Given the description of an element on the screen output the (x, y) to click on. 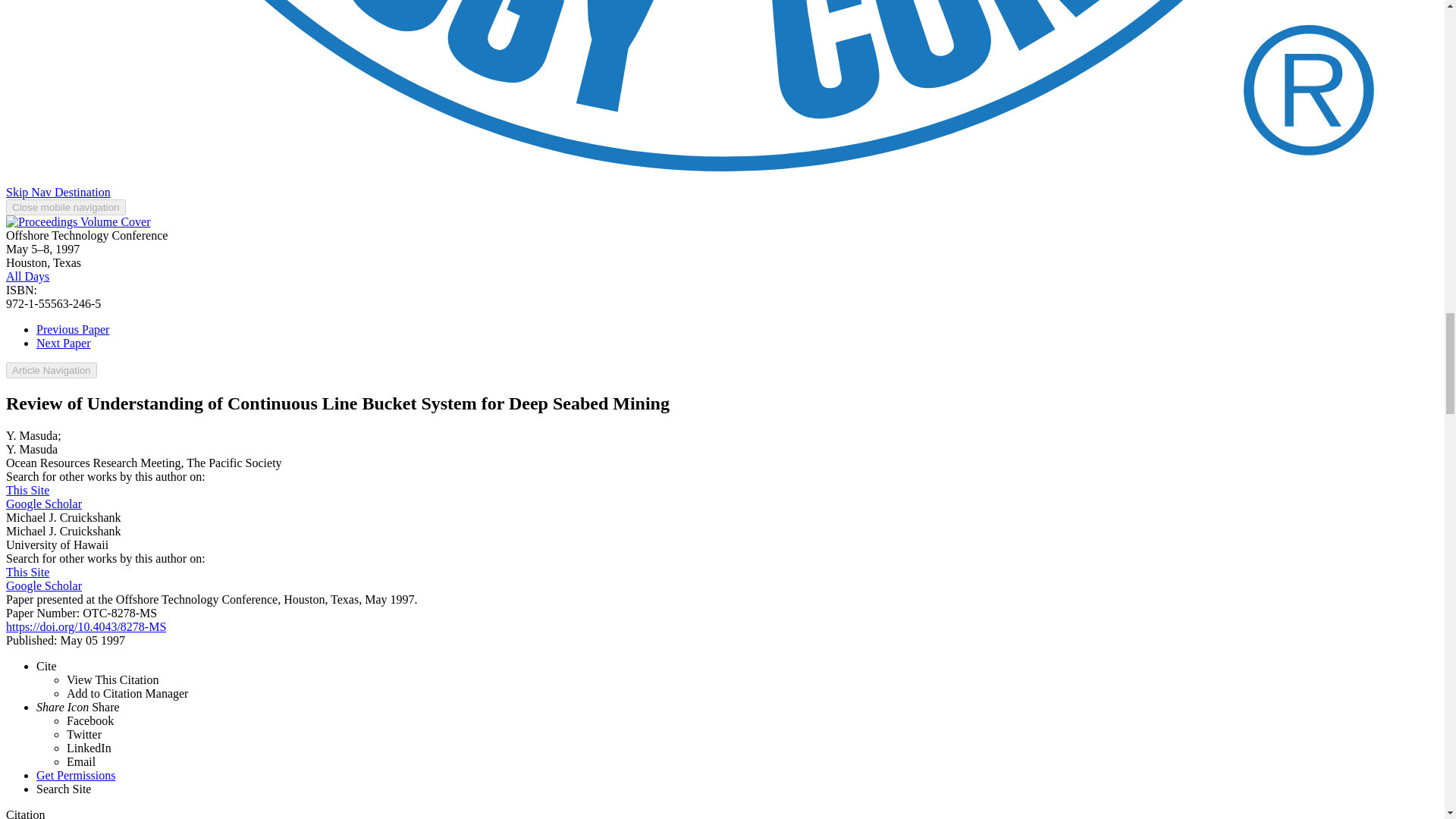
Skip Nav Destination (57, 192)
Close mobile navigation (65, 207)
